Given the description of an element on the screen output the (x, y) to click on. 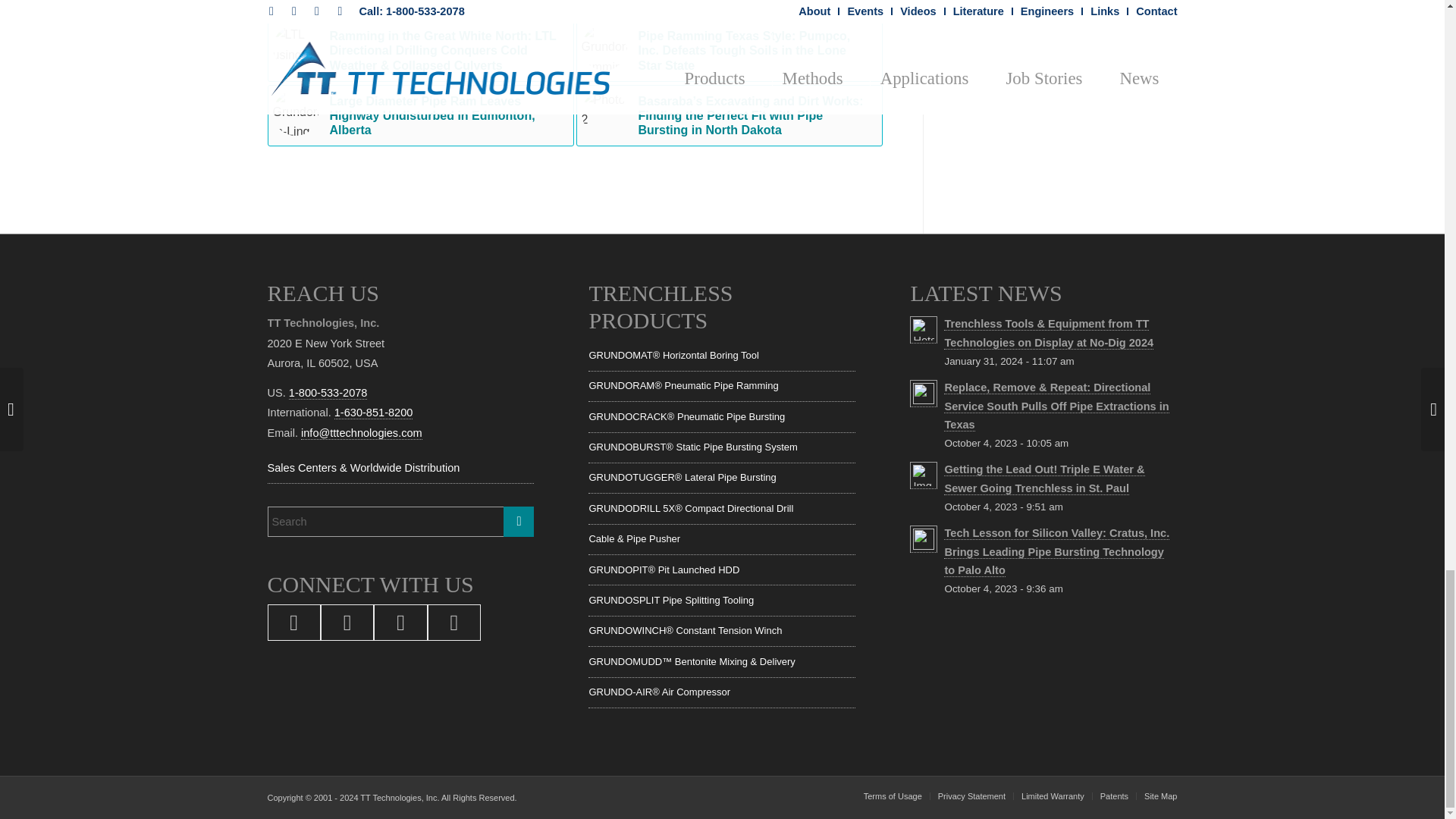
LTLRam4 (295, 2)
